Given the description of an element on the screen output the (x, y) to click on. 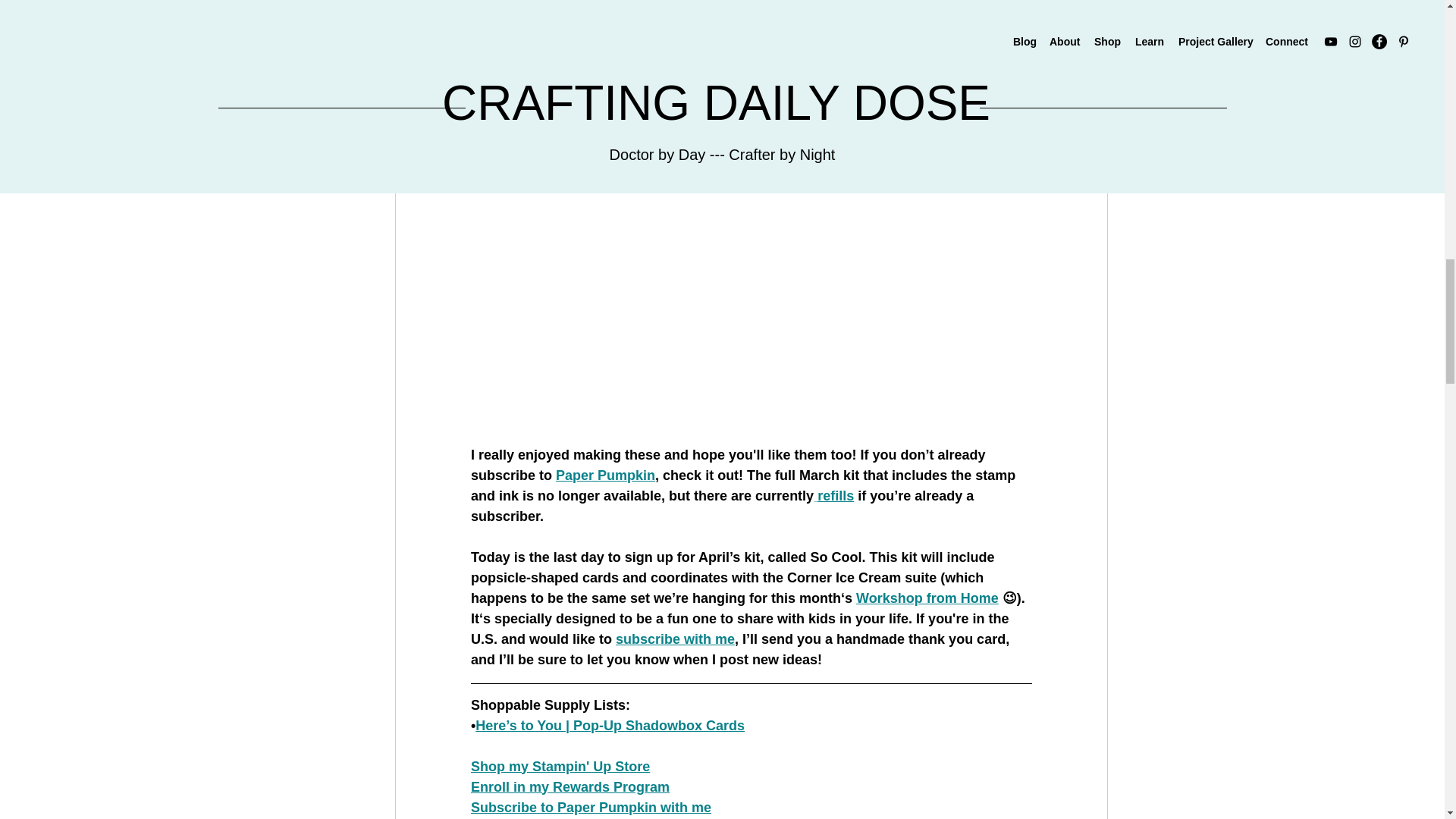
subscribe with me (675, 638)
refills (834, 494)
Shop my Stampin' Up Store (559, 765)
Subscribe to Paper Pumpkin with me (590, 806)
Enroll in my Rewards Program (569, 785)
Workshop from Home (927, 597)
Paper Pumpkin (605, 474)
